Given the description of an element on the screen output the (x, y) to click on. 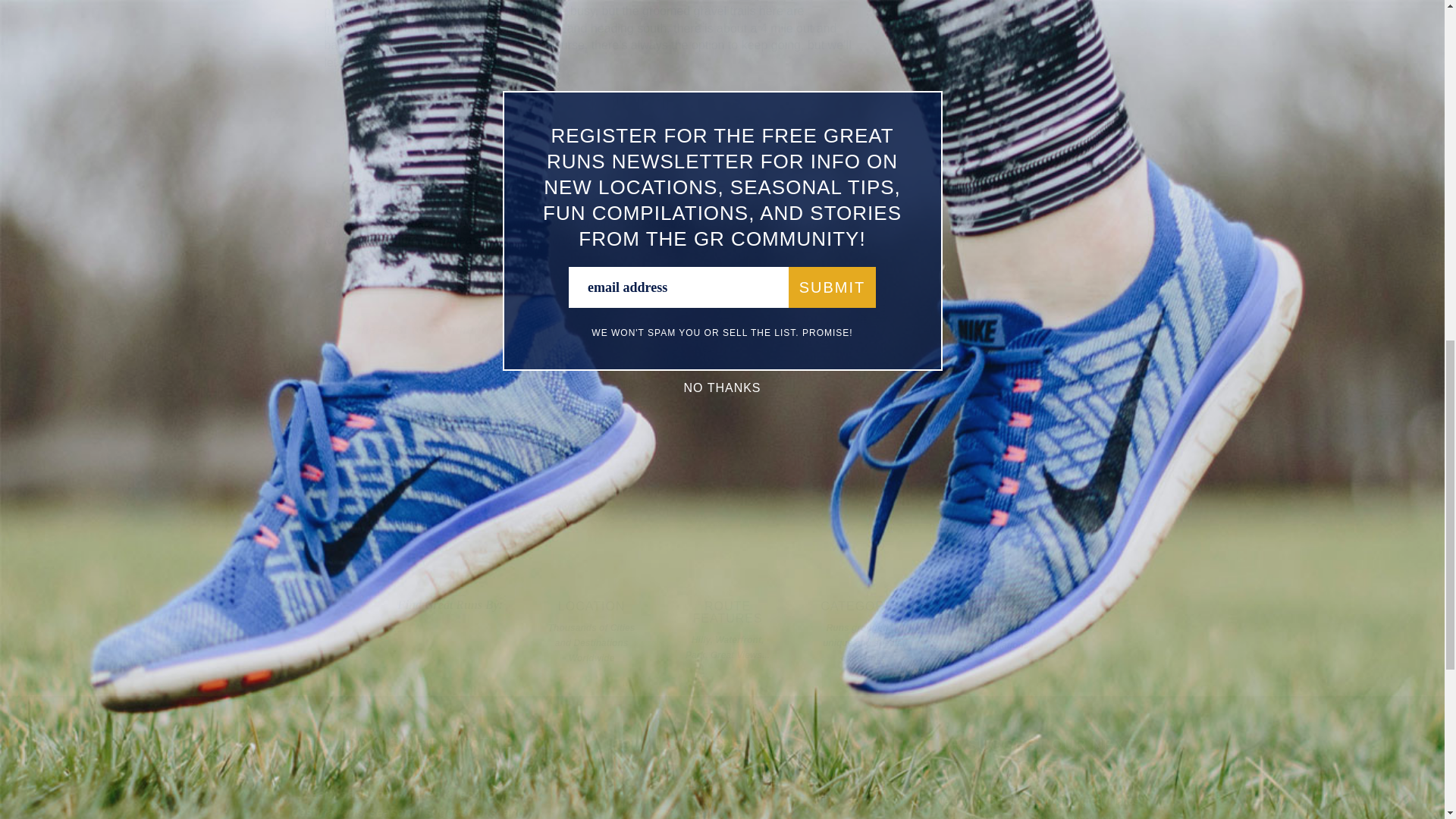
Unordered List (446, 378)
Italic (360, 378)
Ordered List (424, 378)
Source Code (528, 378)
Underline (382, 378)
Code Block (488, 378)
Link (509, 378)
Bold (339, 378)
Blockquote (467, 378)
Spoiler (550, 378)
Strike (403, 378)
